Given the description of an element on the screen output the (x, y) to click on. 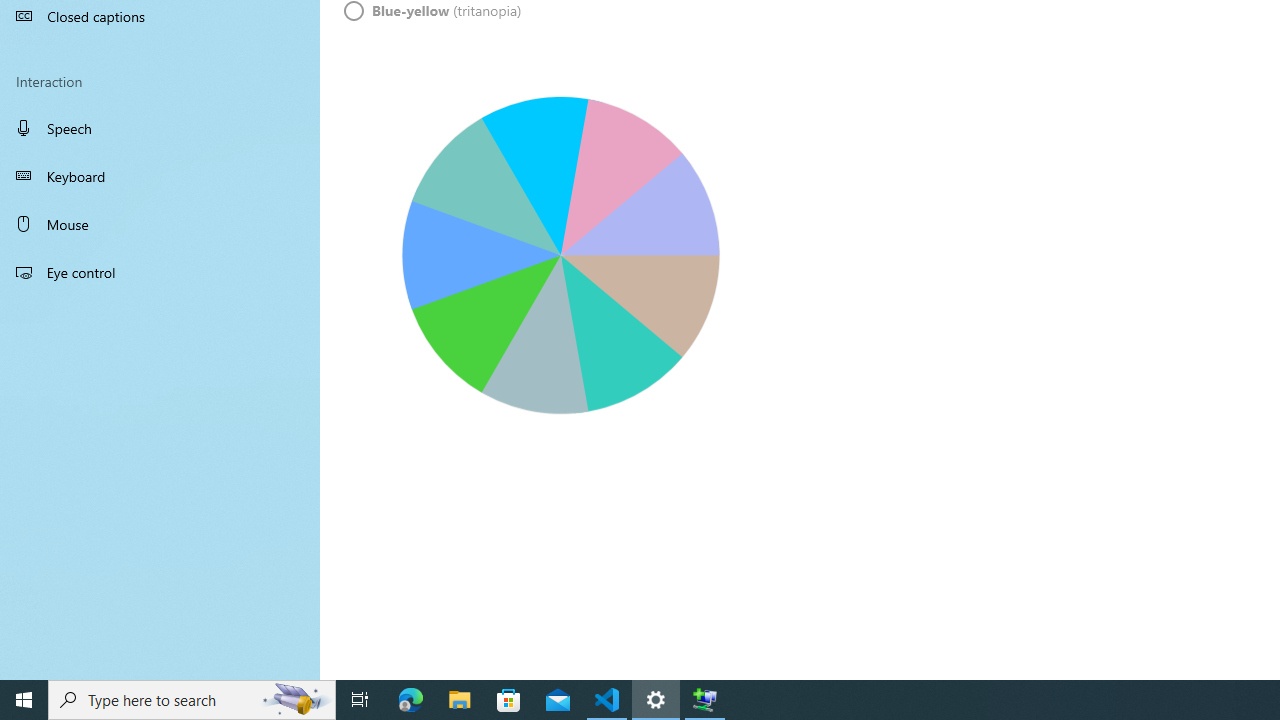
Keyboard (160, 175)
Mouse (160, 223)
Settings - 1 running window (656, 699)
Extensible Wizards Host Process - 1 running window (704, 699)
Speech (160, 127)
Eye control (160, 271)
